Given the description of an element on the screen output the (x, y) to click on. 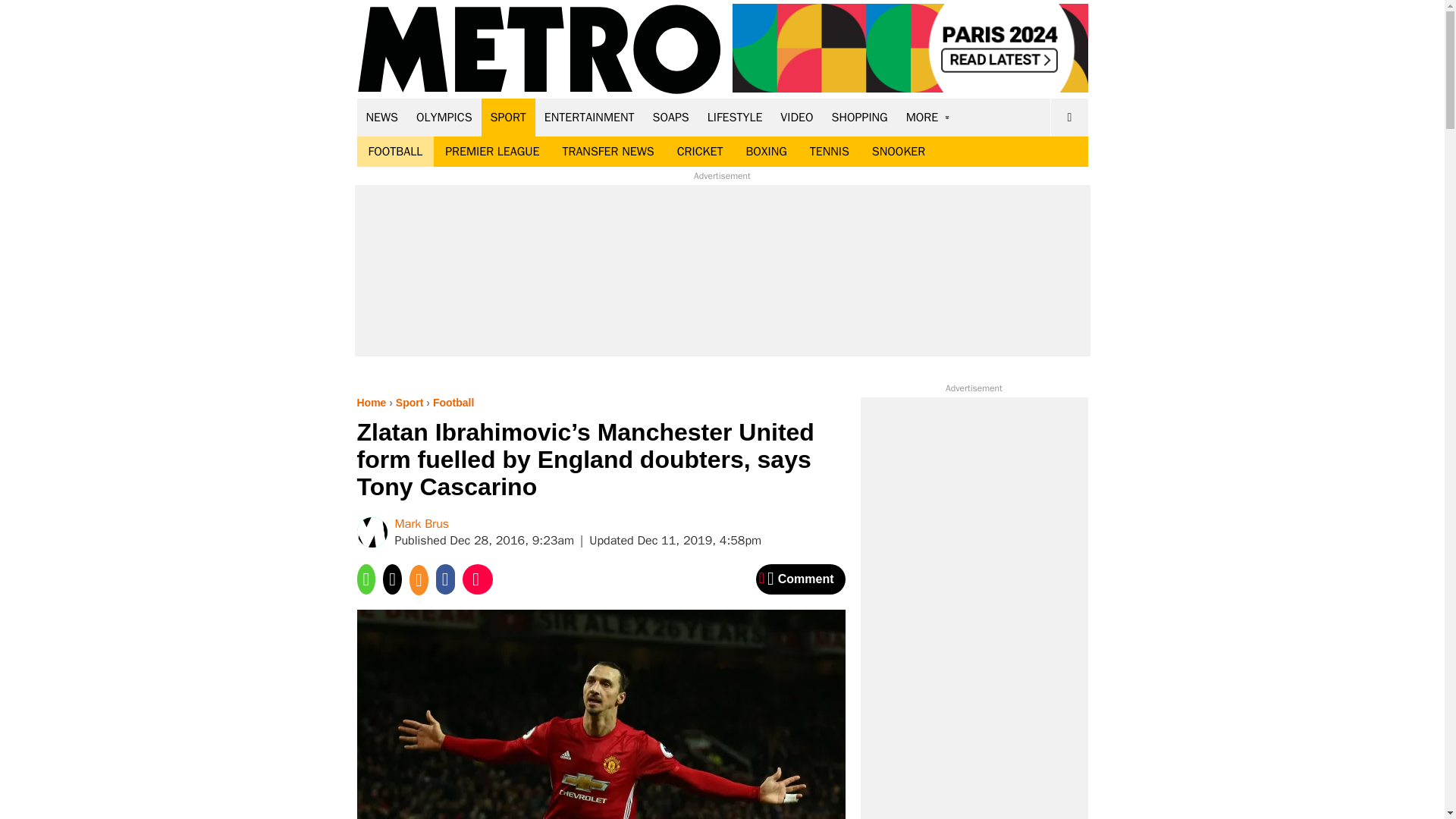
BOXING (765, 151)
SOAPS (670, 117)
FOOTBALL (394, 151)
SNOOKER (898, 151)
TRANSFER NEWS (607, 151)
TENNIS (828, 151)
ENTERTAINMENT (589, 117)
PREMIER LEAGUE (491, 151)
OLYMPICS (444, 117)
LIFESTYLE (734, 117)
SPORT (508, 117)
CRICKET (700, 151)
NEWS (381, 117)
Metro (539, 50)
